Given the description of an element on the screen output the (x, y) to click on. 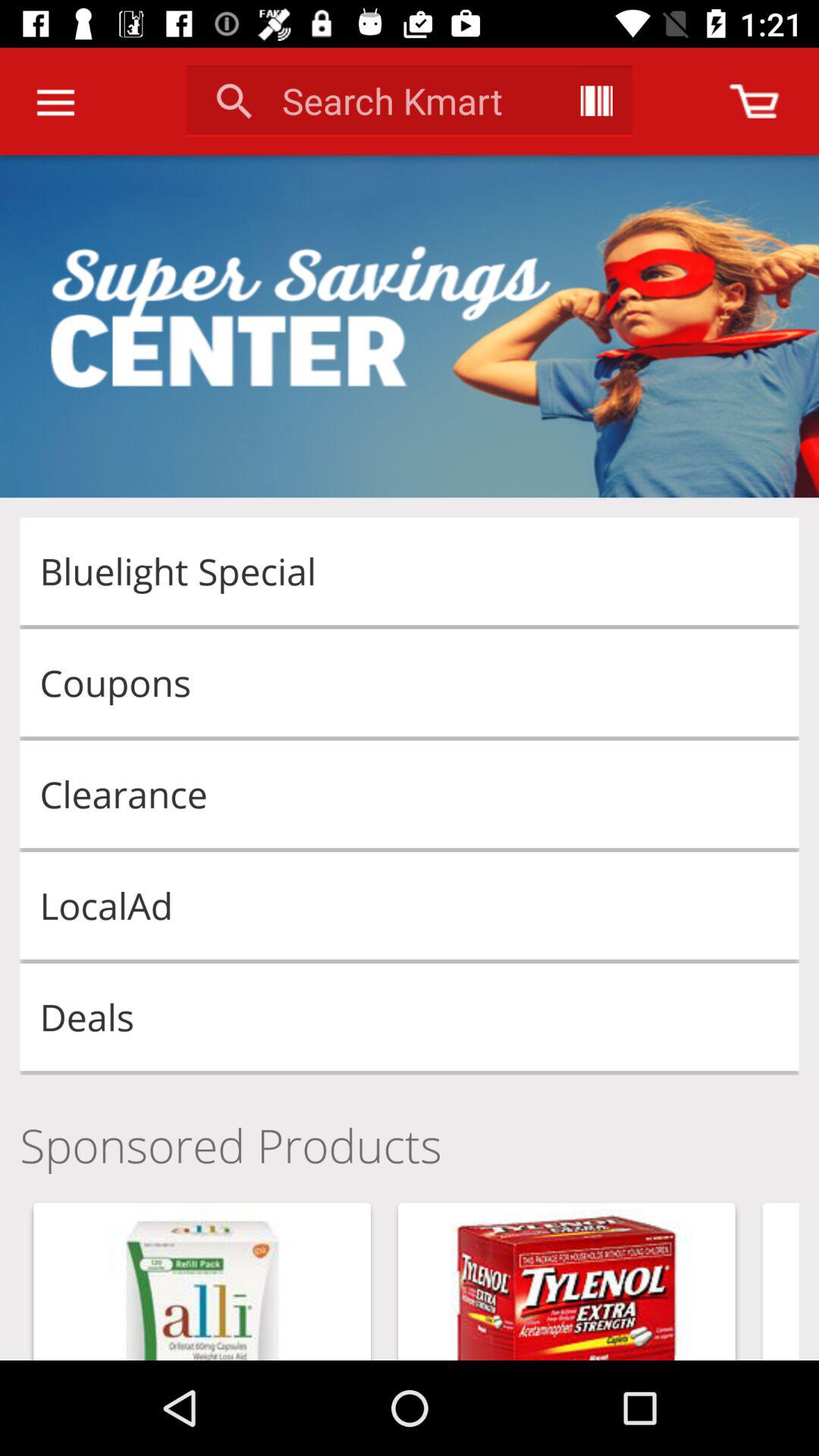
press app to the right of search kmart app (596, 100)
